Given the description of an element on the screen output the (x, y) to click on. 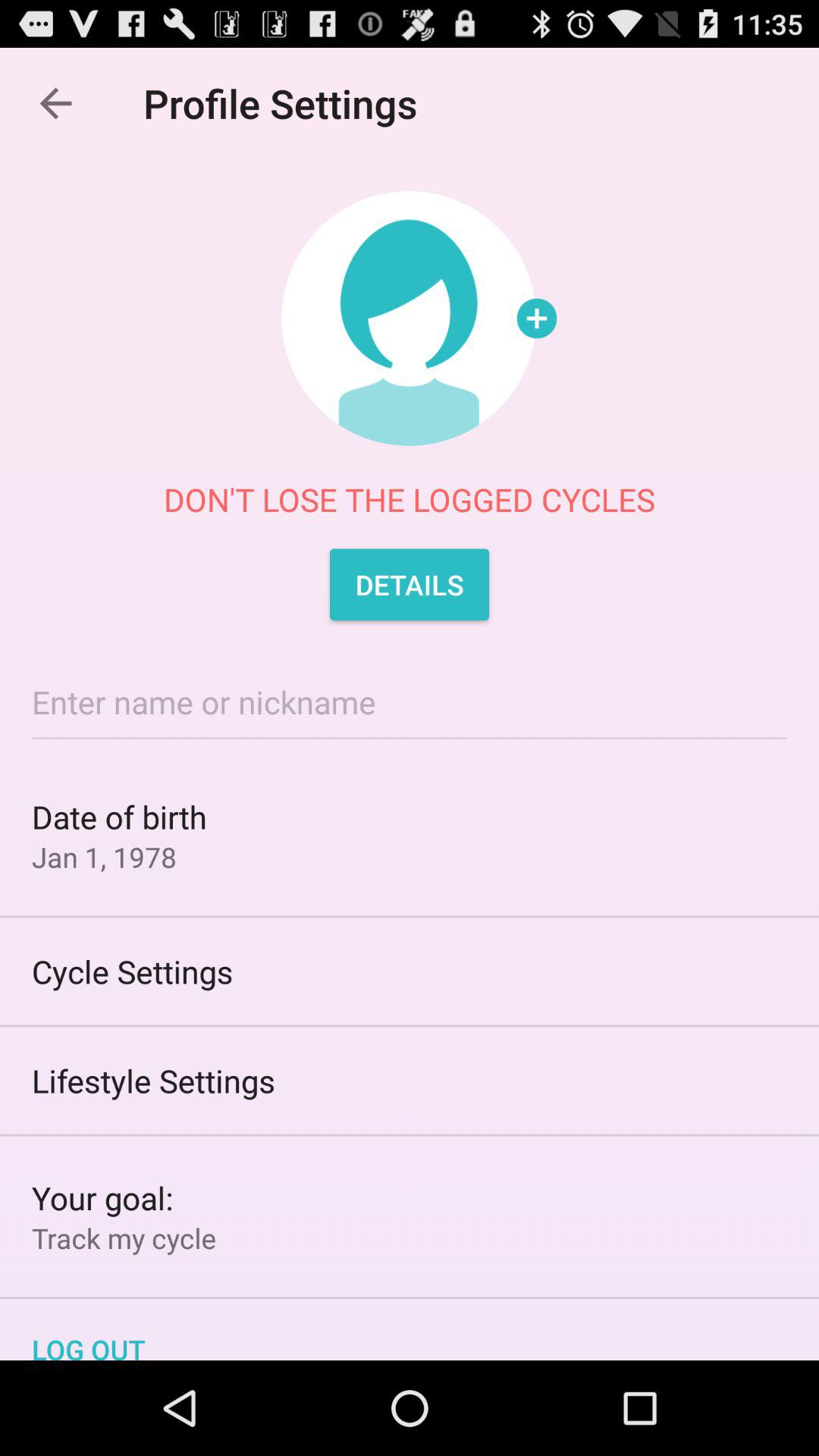
name space (409, 701)
